Given the description of an element on the screen output the (x, y) to click on. 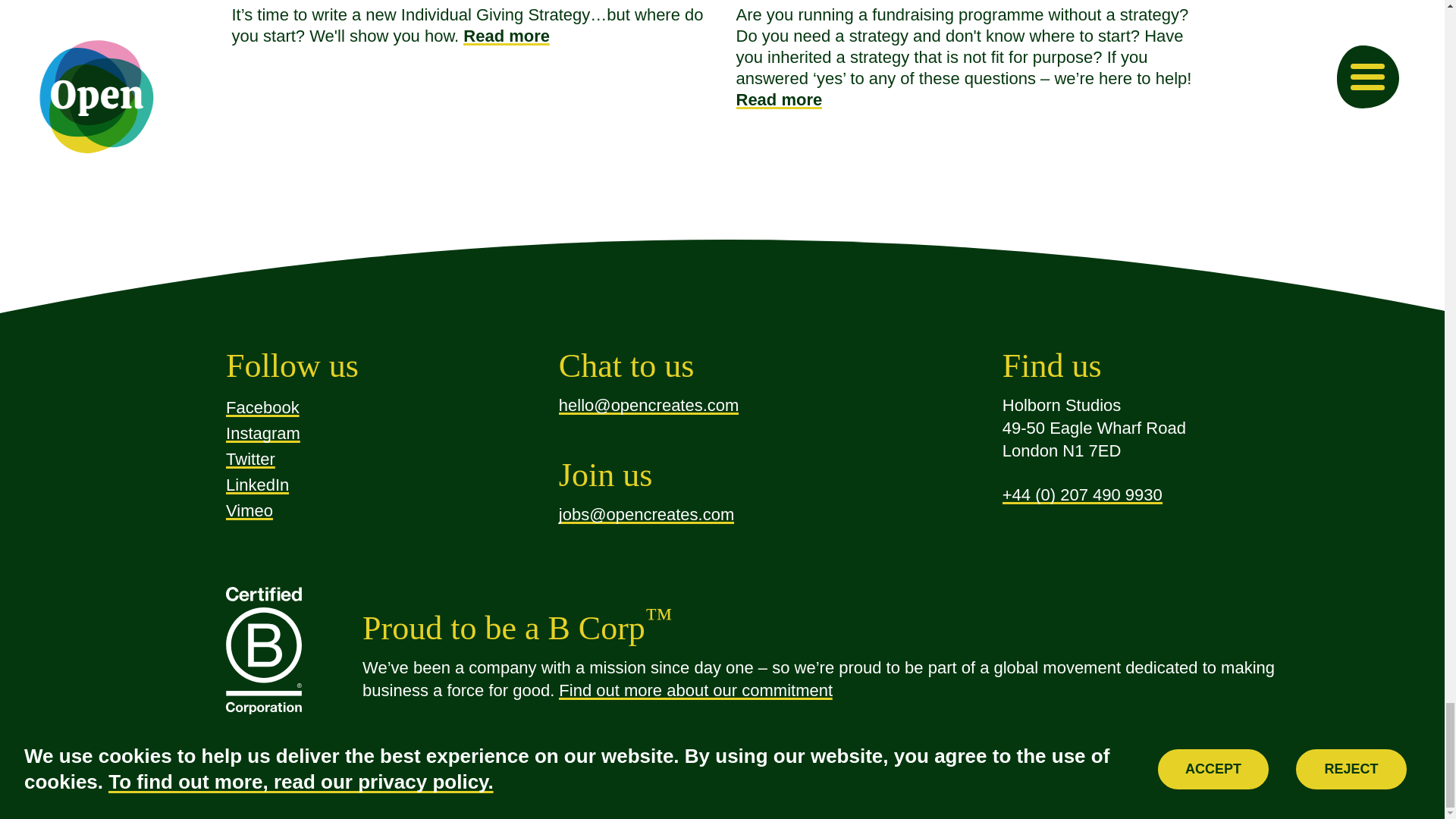
Facebook (262, 407)
Open Creates LinkedIn (256, 484)
Open Creates Twitter (250, 458)
Open Creates Instagram (262, 433)
Open Creates Vimeo (249, 510)
Open Creates Facebook (262, 407)
LinkedIn (256, 484)
Find out more about our commitment (695, 690)
Twitter (250, 458)
Instagram (262, 433)
